Given the description of an element on the screen output the (x, y) to click on. 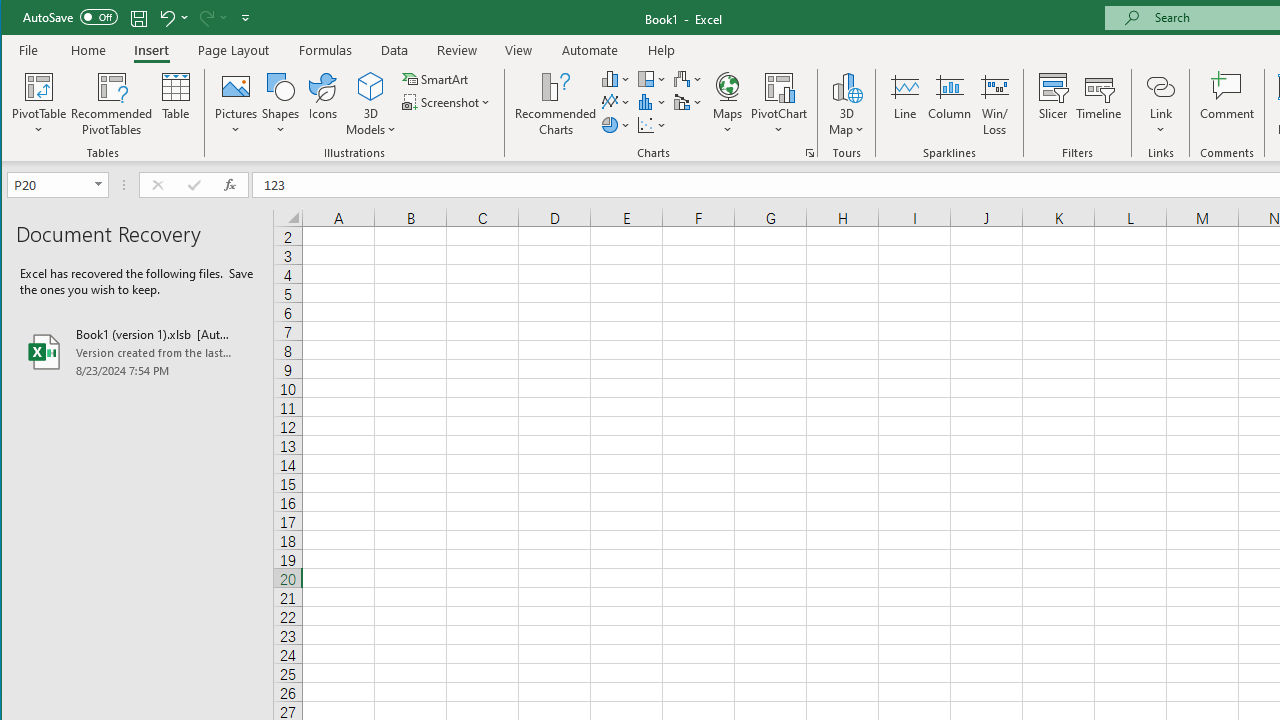
Timeline (1098, 104)
PivotTable (39, 104)
SmartArt... (436, 78)
PivotChart (779, 104)
Screenshot (447, 101)
Insert Pie or Doughnut Chart (616, 124)
3D Map (846, 104)
